Given the description of an element on the screen output the (x, y) to click on. 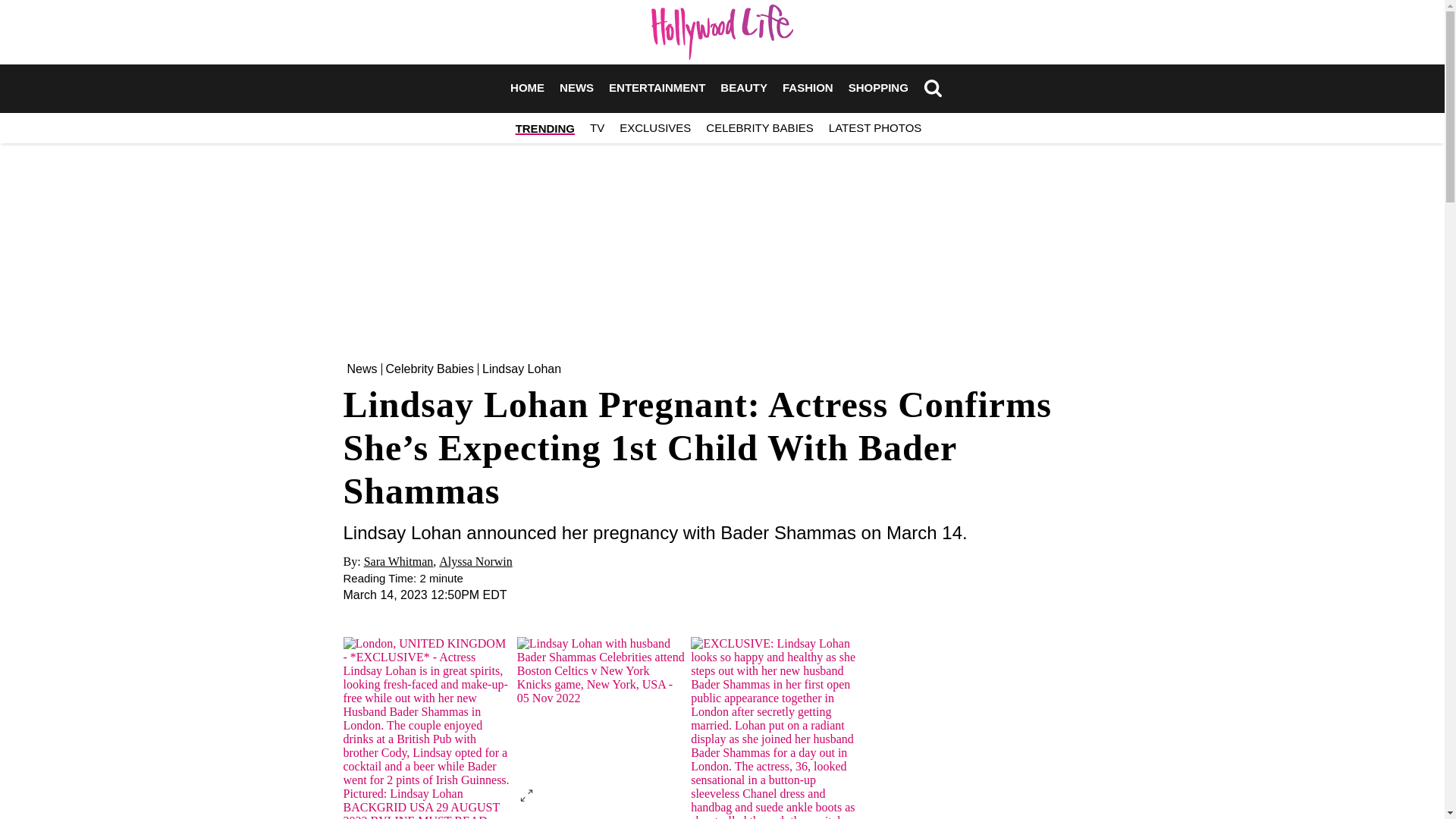
Posts by Alyssa Norwin (475, 561)
ENTERTAINMENT (656, 88)
BEAUTY (743, 88)
Hollywood Life (722, 32)
Posts by Sara Whitman (398, 561)
FASHION (807, 88)
SHOPPING (878, 88)
